Given the description of an element on the screen output the (x, y) to click on. 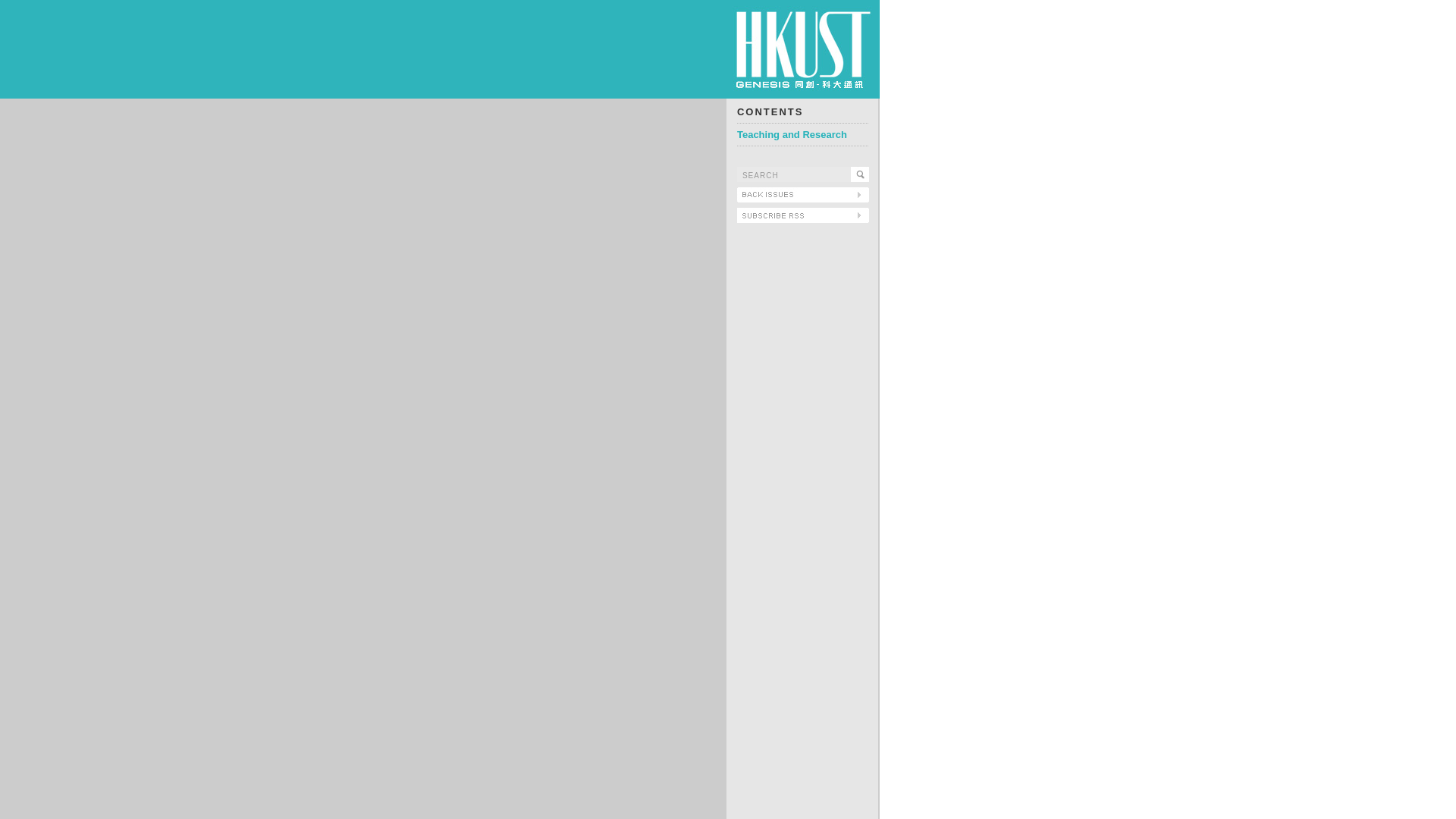
Teaching and Research (791, 134)
CONTENTS (769, 111)
SEARCH (793, 174)
